Given the description of an element on the screen output the (x, y) to click on. 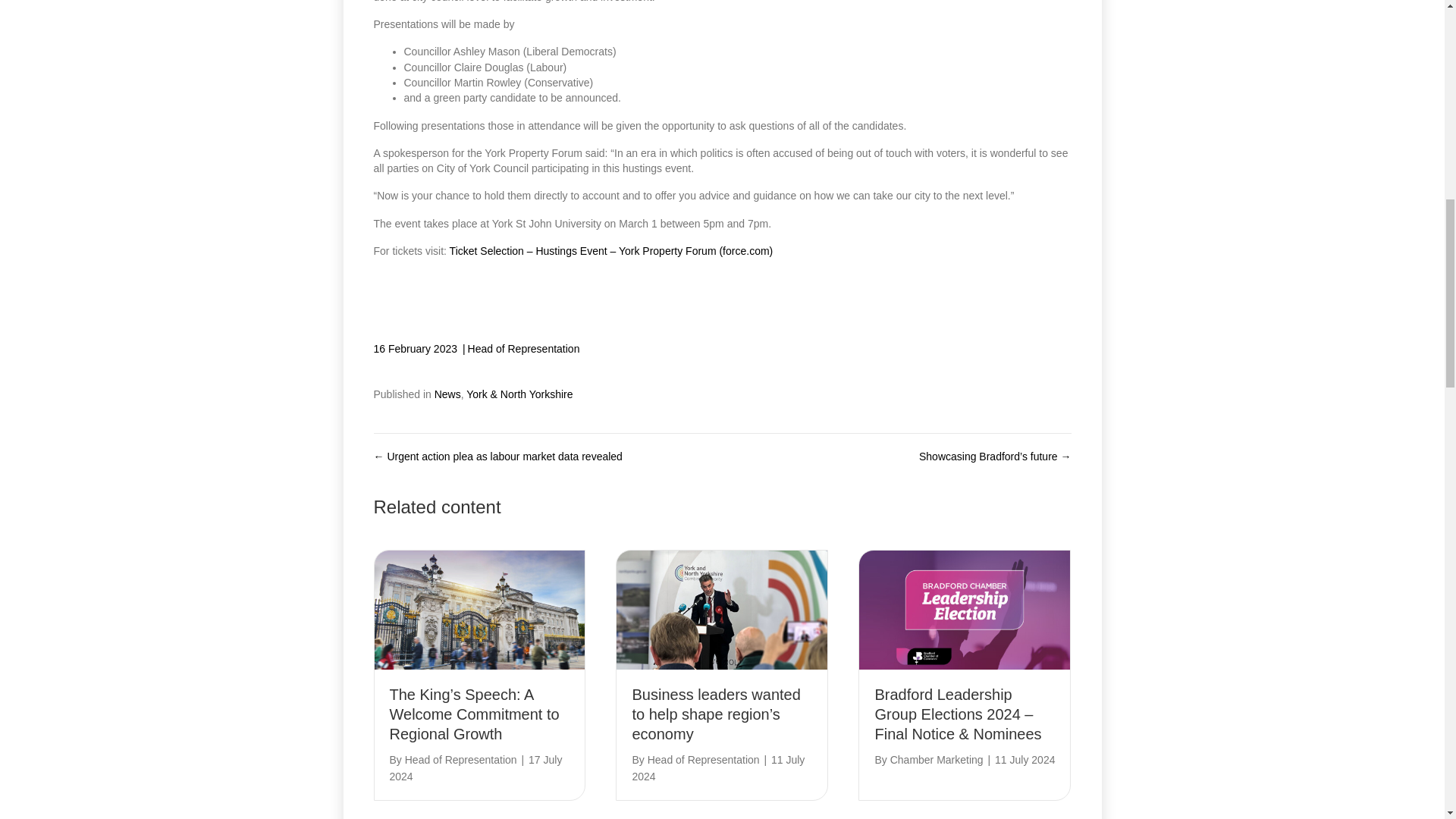
News (447, 394)
Head of Representation (523, 348)
